Given the description of an element on the screen output the (x, y) to click on. 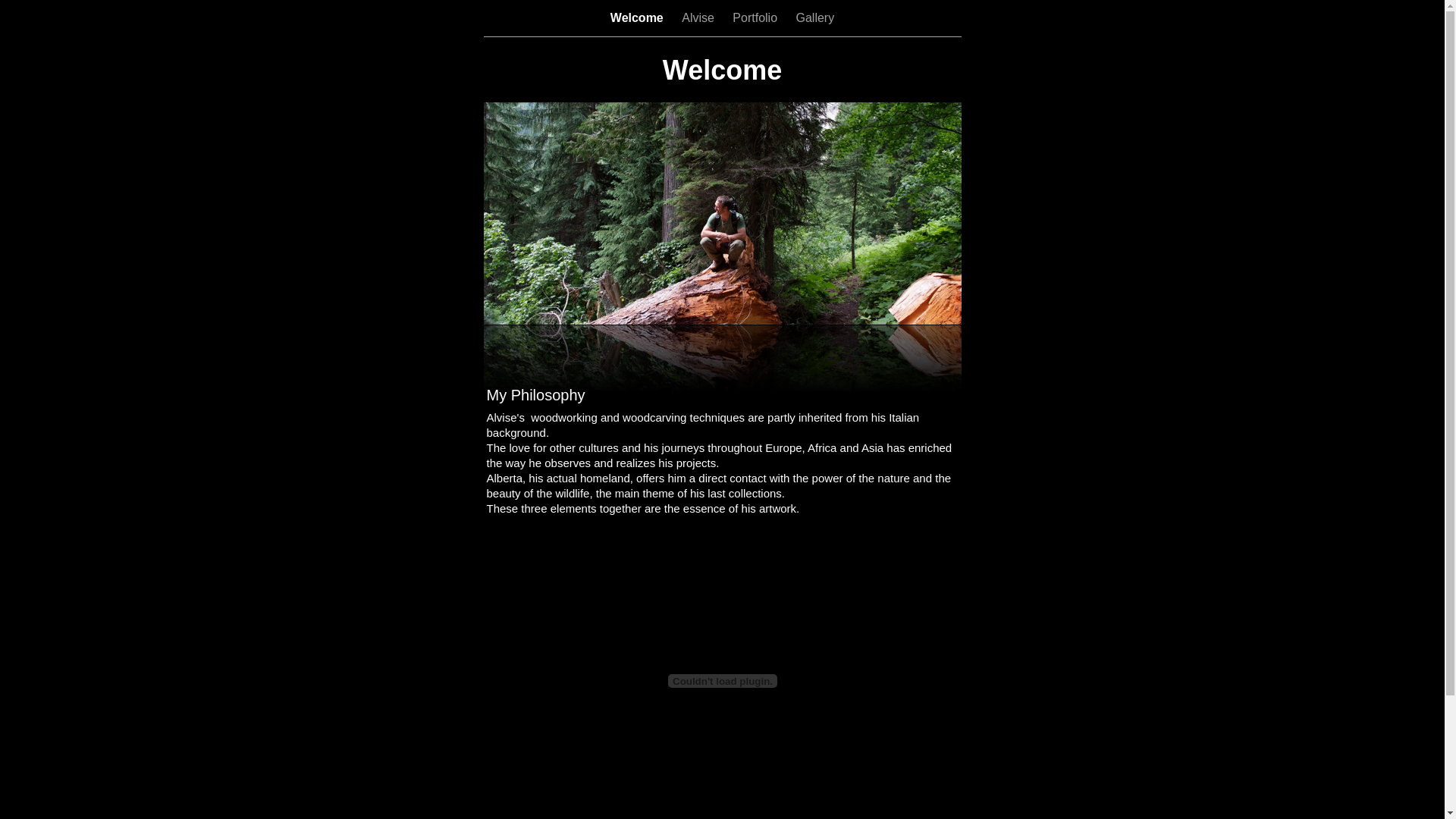
Gallery Element type: text (814, 17)
Alvise Element type: text (699, 17)
Portfolio Element type: text (756, 17)
Welcome Element type: text (638, 17)
